Given the description of an element on the screen output the (x, y) to click on. 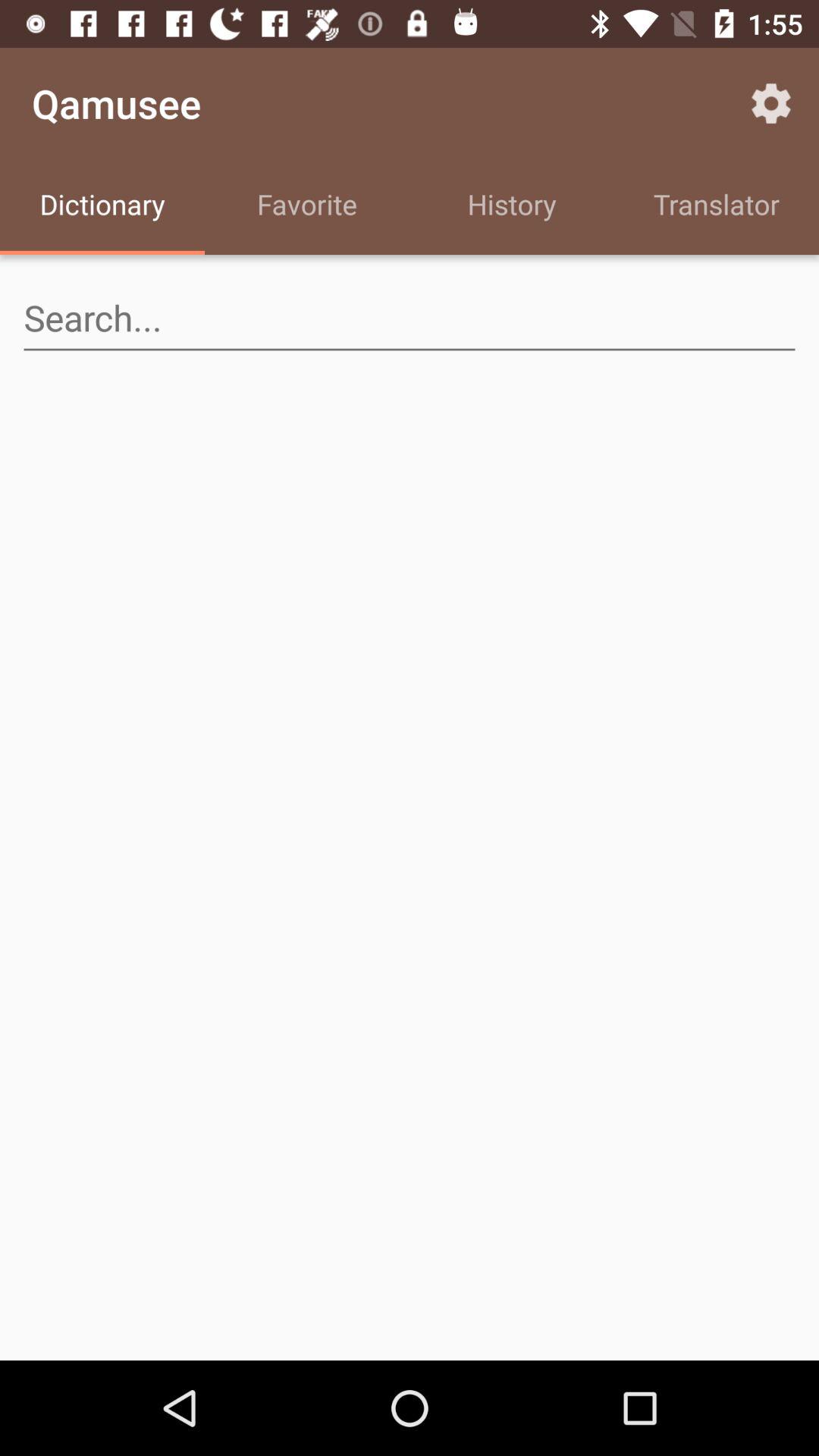
choose the item next to translator item (511, 206)
